Given the description of an element on the screen output the (x, y) to click on. 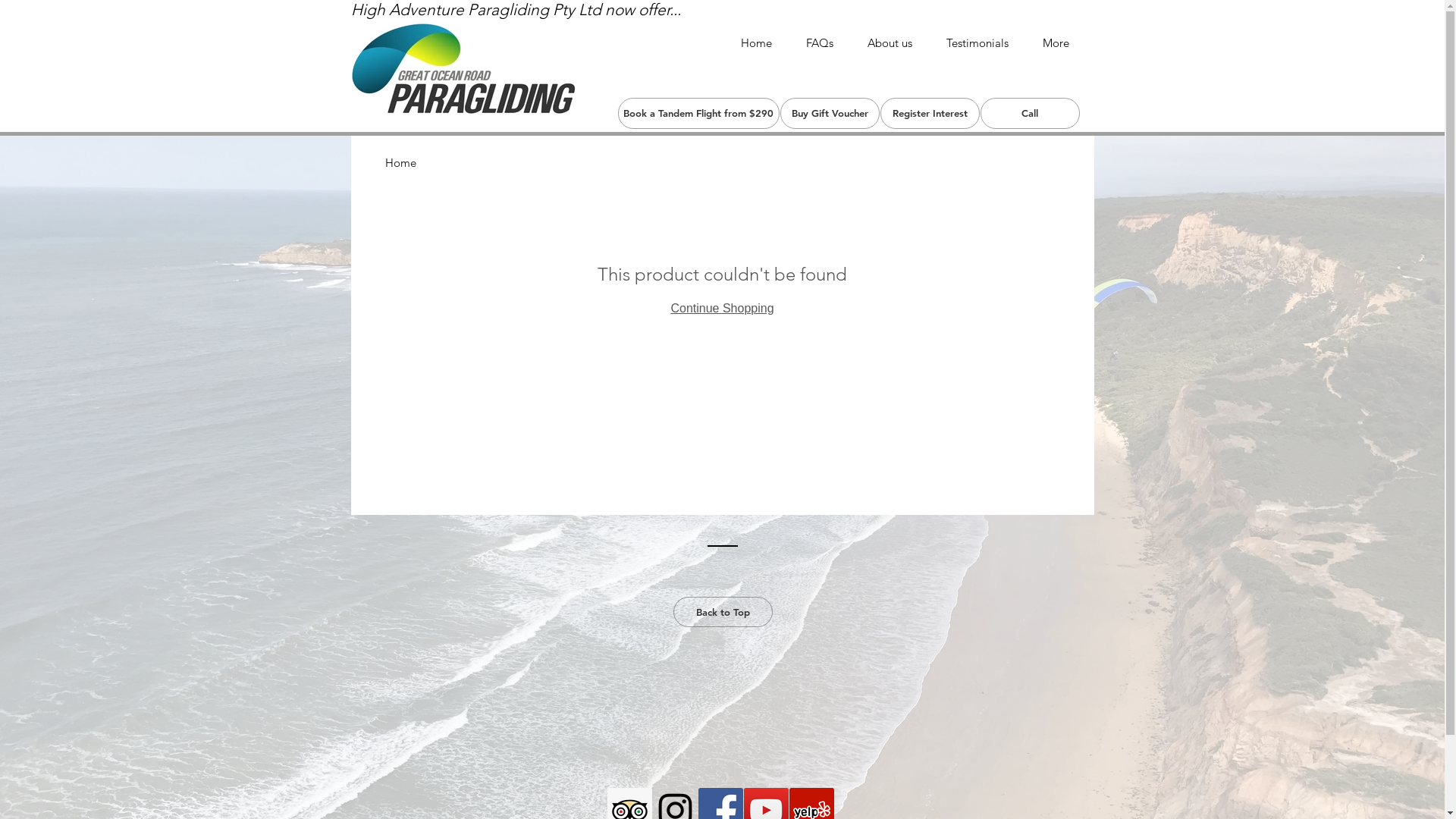
Embedded Content Element type: hover (719, 722)
Call Element type: text (1029, 112)
Testimonials Element type: text (977, 42)
Register Interest Element type: text (929, 112)
FAQs Element type: text (819, 42)
About us Element type: text (889, 42)
Buy Gift Voucher Element type: text (828, 112)
Home Element type: text (400, 162)
Home Element type: text (755, 42)
Book a Tandem Flight from $290 Element type: text (697, 112)
Continue Shopping Element type: text (721, 307)
High Adventure Paragliding Pty Ltd now offer... Element type: text (515, 9)
